Given the description of an element on the screen output the (x, y) to click on. 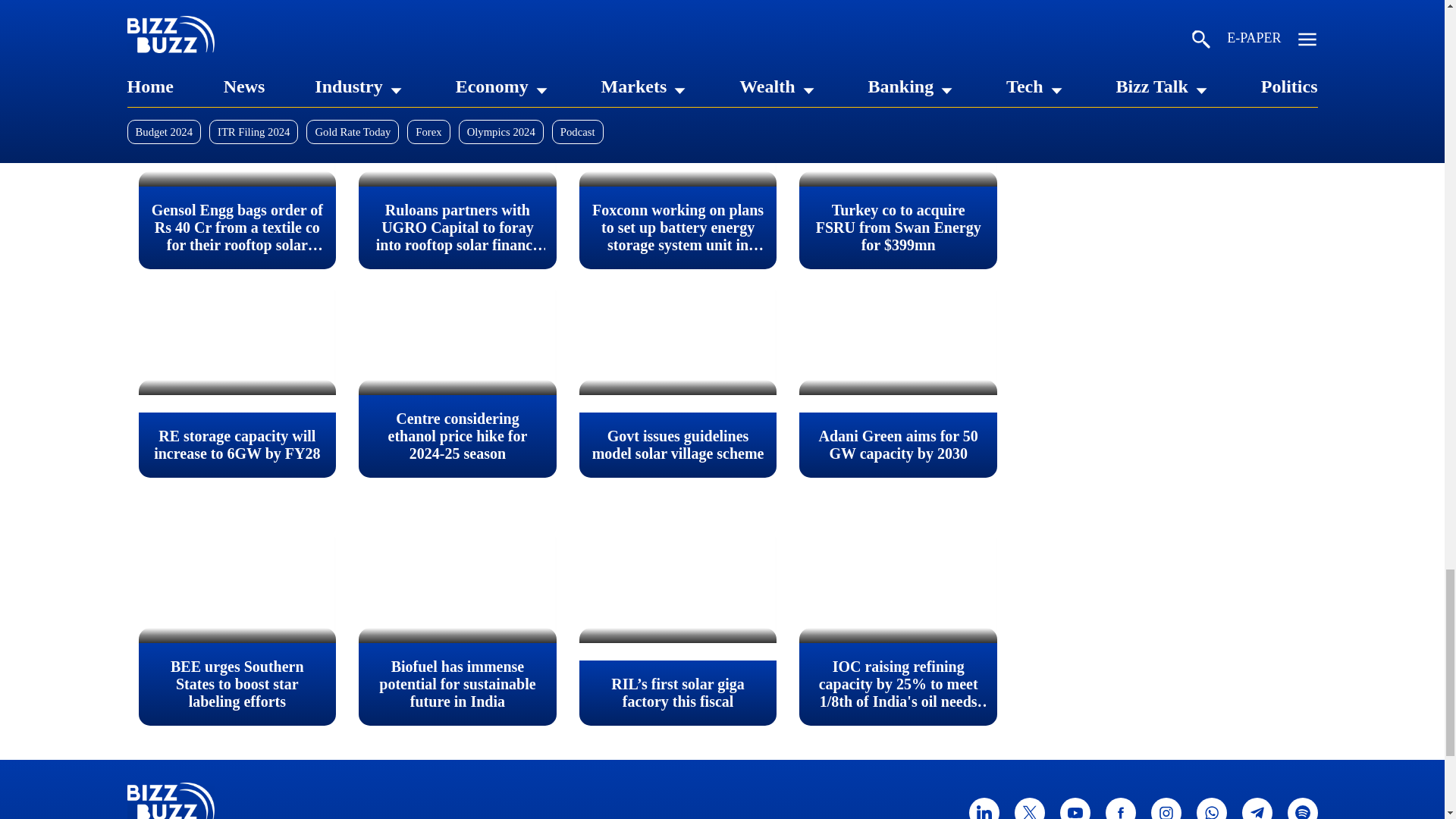
Centre considering ethanol price hike for 2024-25 season (457, 339)
RE storage capacity will increase to 6GW by FY28 (237, 339)
Govt issues guidelines model solar village scheme (678, 339)
Adani Green aims for 50 GW capacity by 2030 (898, 339)
